Given the description of an element on the screen output the (x, y) to click on. 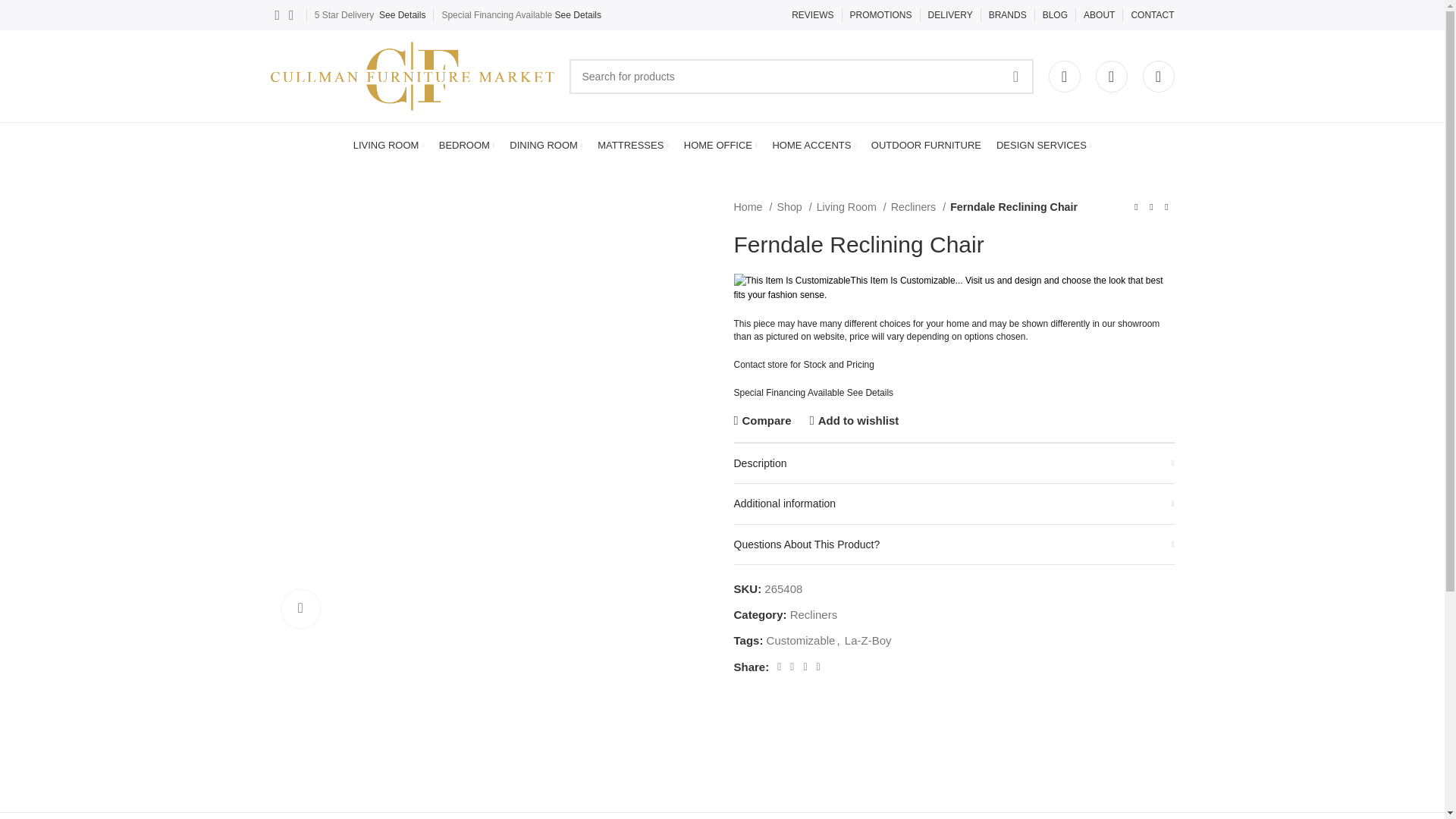
My account (1064, 75)
My Wishlist (1110, 75)
BRANDS (1007, 15)
SEARCH (1014, 76)
See Details (577, 14)
Search for products (800, 76)
See Details (401, 14)
ABOUT (1099, 15)
Compare products (1157, 75)
